Given the description of an element on the screen output the (x, y) to click on. 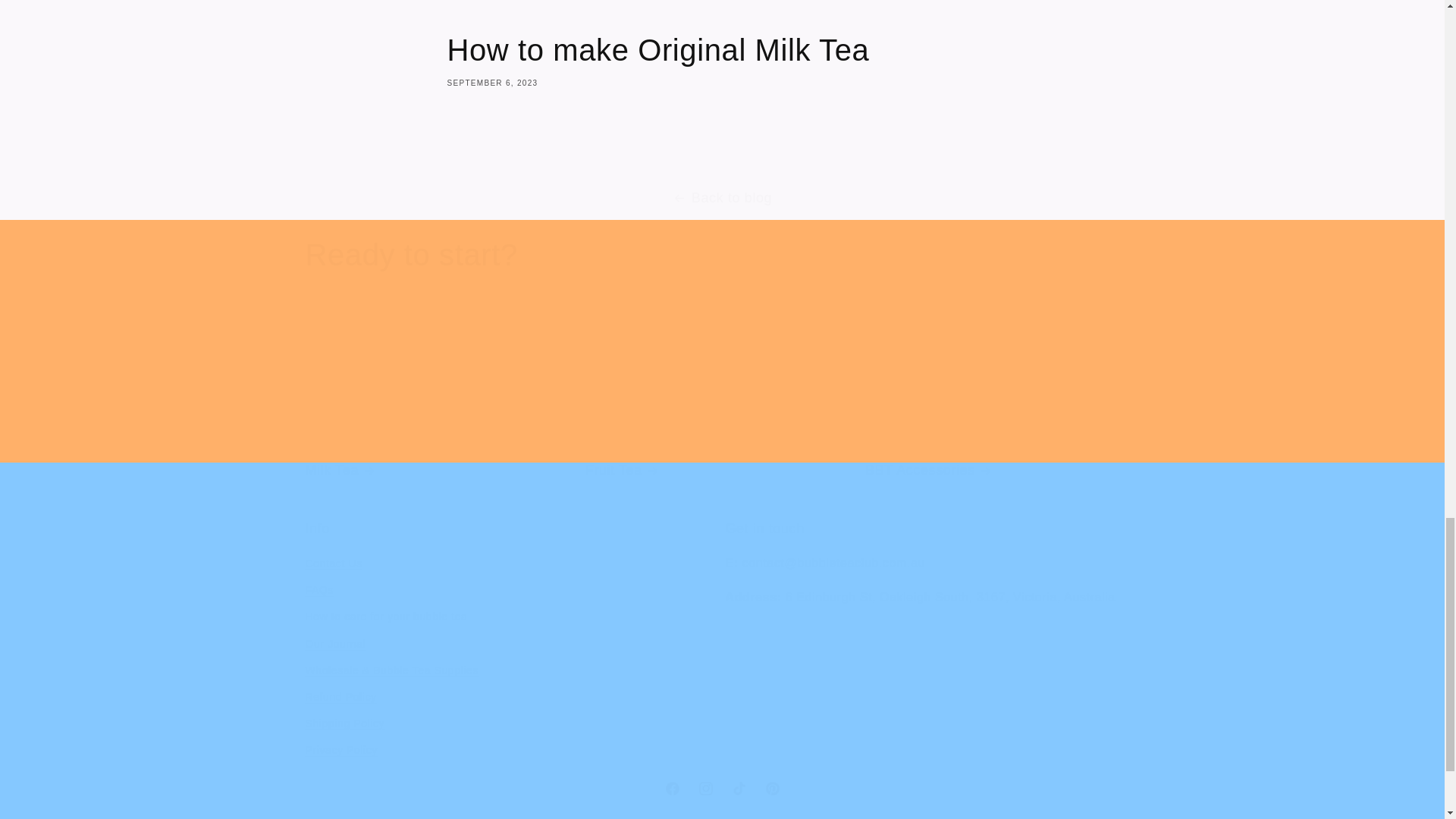
Ready to start? (410, 254)
Fruit Tea (1001, 402)
Milk Tea (721, 788)
